Given the description of an element on the screen output the (x, y) to click on. 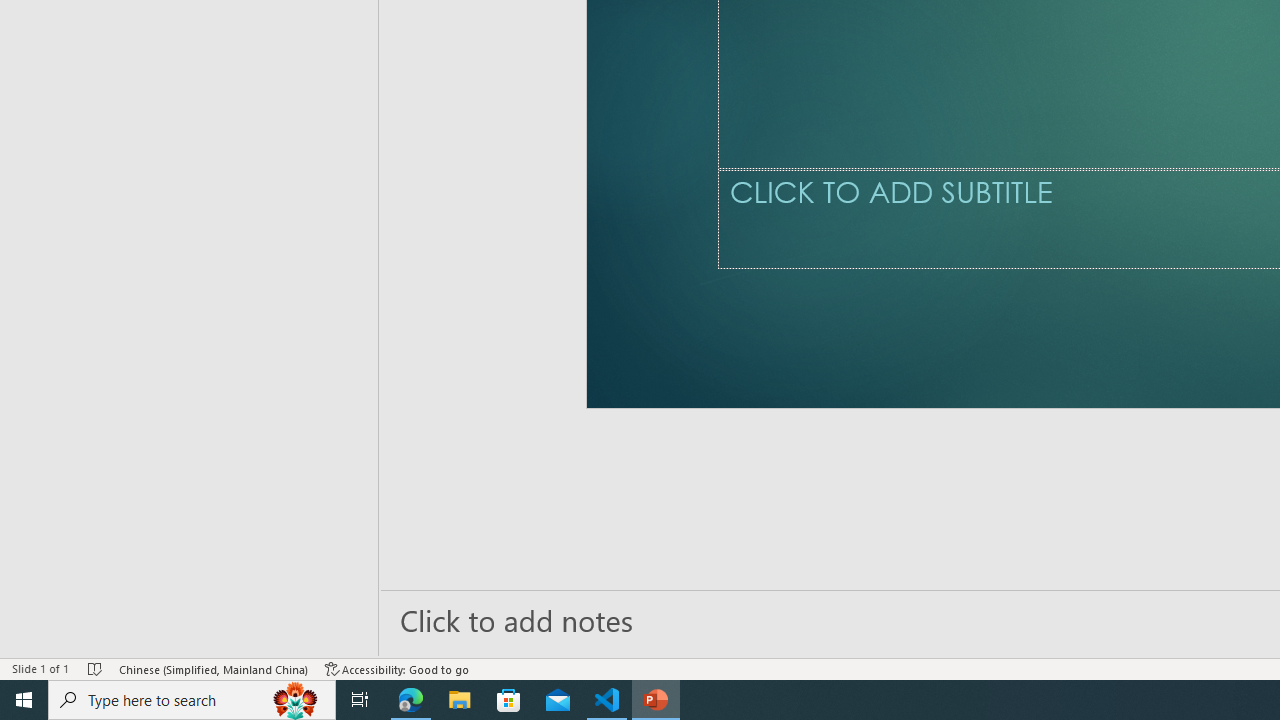
Accessibility Checker Accessibility: Good to go (397, 668)
